Given the description of an element on the screen output the (x, y) to click on. 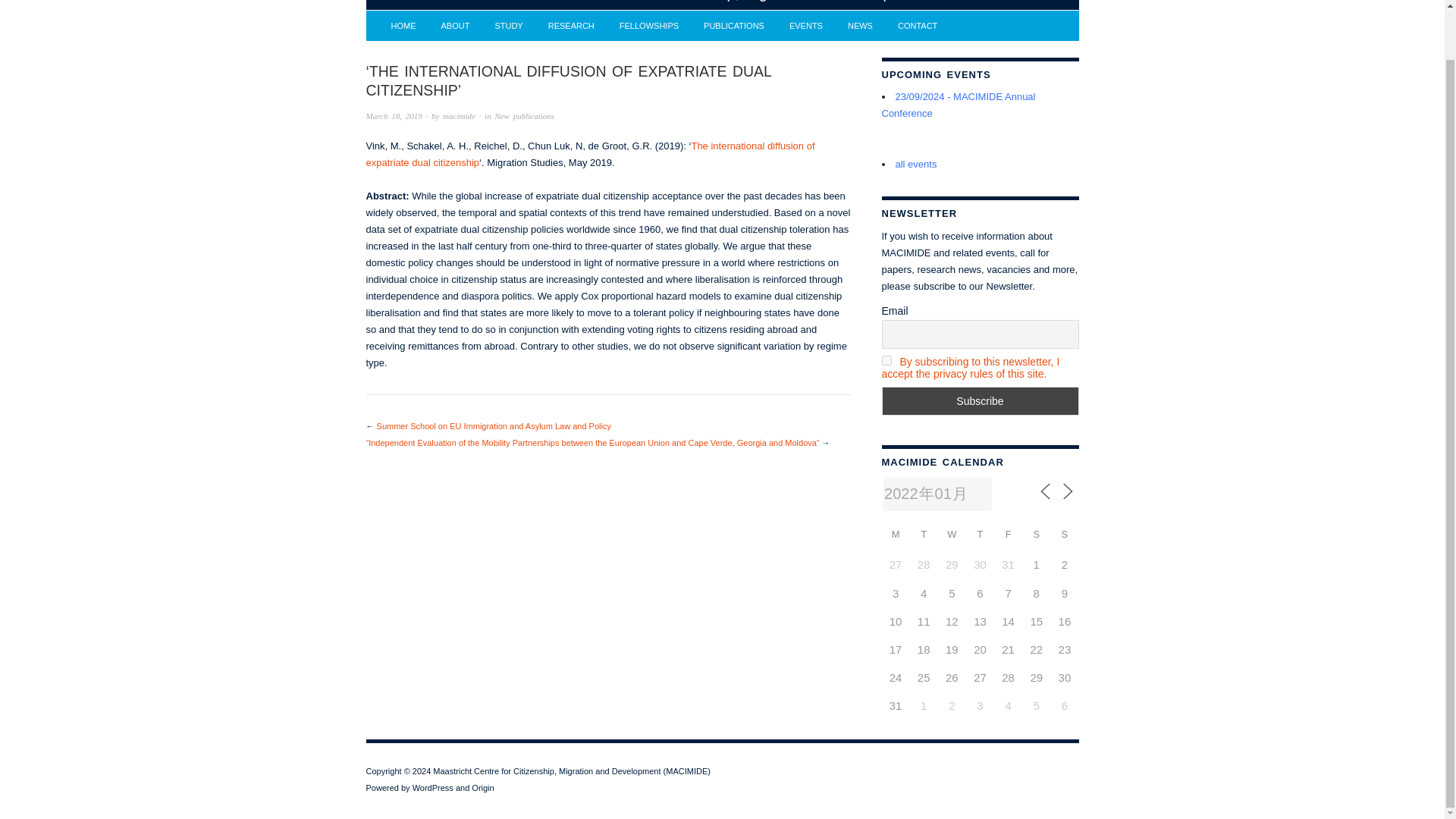
macimide (459, 115)
New publications (524, 115)
RESEARCH (571, 26)
all events (915, 163)
PUBLICATIONS (733, 26)
Summer School on EU Immigration and Asylum Law and Policy (494, 425)
2022-01 (937, 493)
HOME (403, 26)
NEWS (859, 26)
on (885, 360)
Posts by macimide (459, 115)
STUDY (508, 26)
FELLOWSHIPS (649, 26)
The international diffusion of expatriate dual citizenship (589, 154)
EVENTS (805, 26)
